Given the description of an element on the screen output the (x, y) to click on. 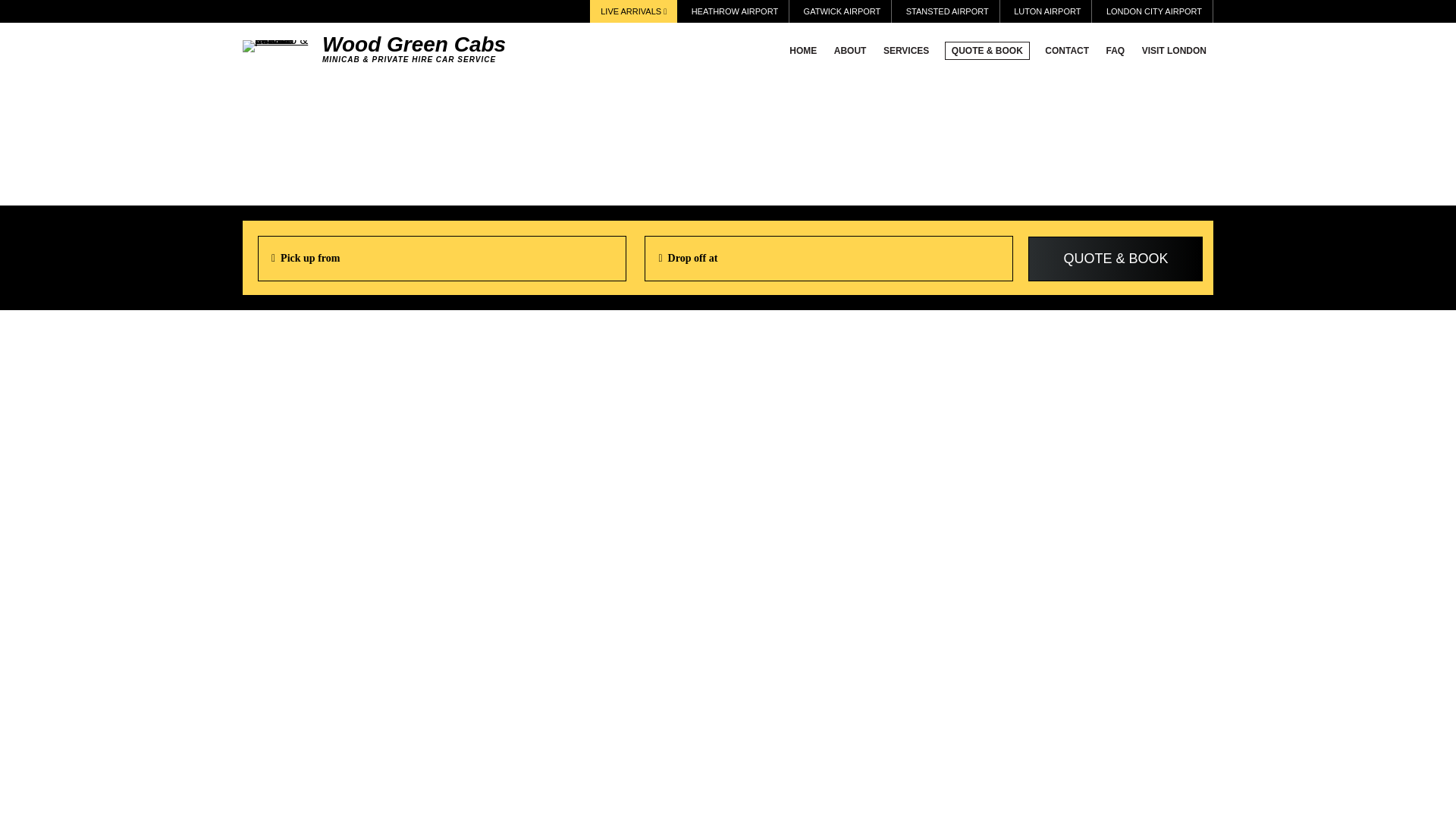
SERVICES (906, 49)
HEATHROW AIRPORT (734, 10)
CONTACT (1067, 49)
ABOUT (850, 49)
STANSTED AIRPORT (946, 10)
LONDON CITY AIRPORT (1154, 10)
GATWICK AIRPORT (841, 10)
LUTON AIRPORT (1046, 10)
HOME (803, 49)
FAQ (1115, 49)
VISIT LONDON (1173, 49)
Wood Green Cabs (278, 44)
